Given the description of an element on the screen output the (x, y) to click on. 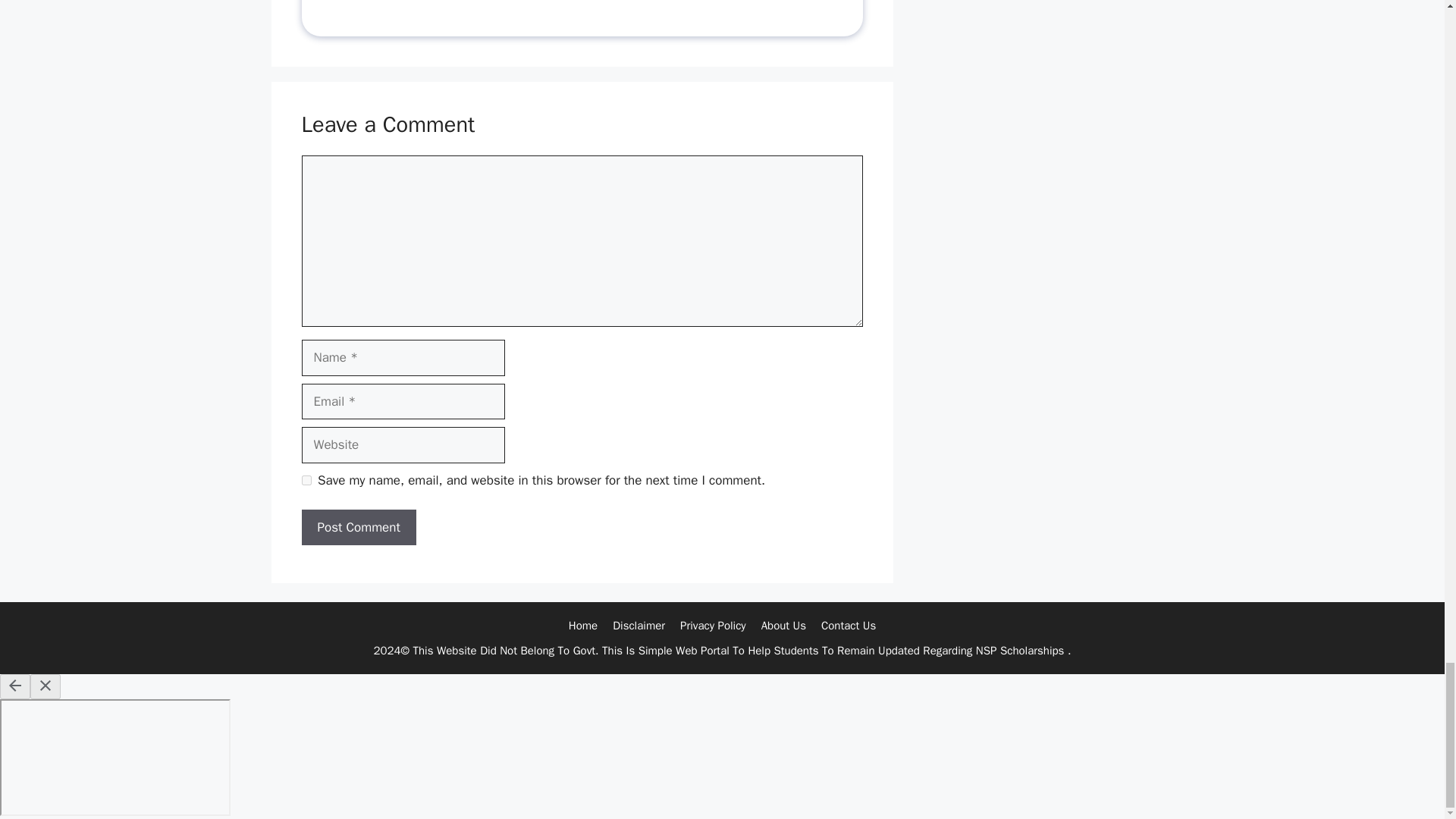
Post Comment (358, 527)
... (541, 4)
Read more about this author (541, 4)
yes (306, 480)
Post Comment (358, 527)
